Given the description of an element on the screen output the (x, y) to click on. 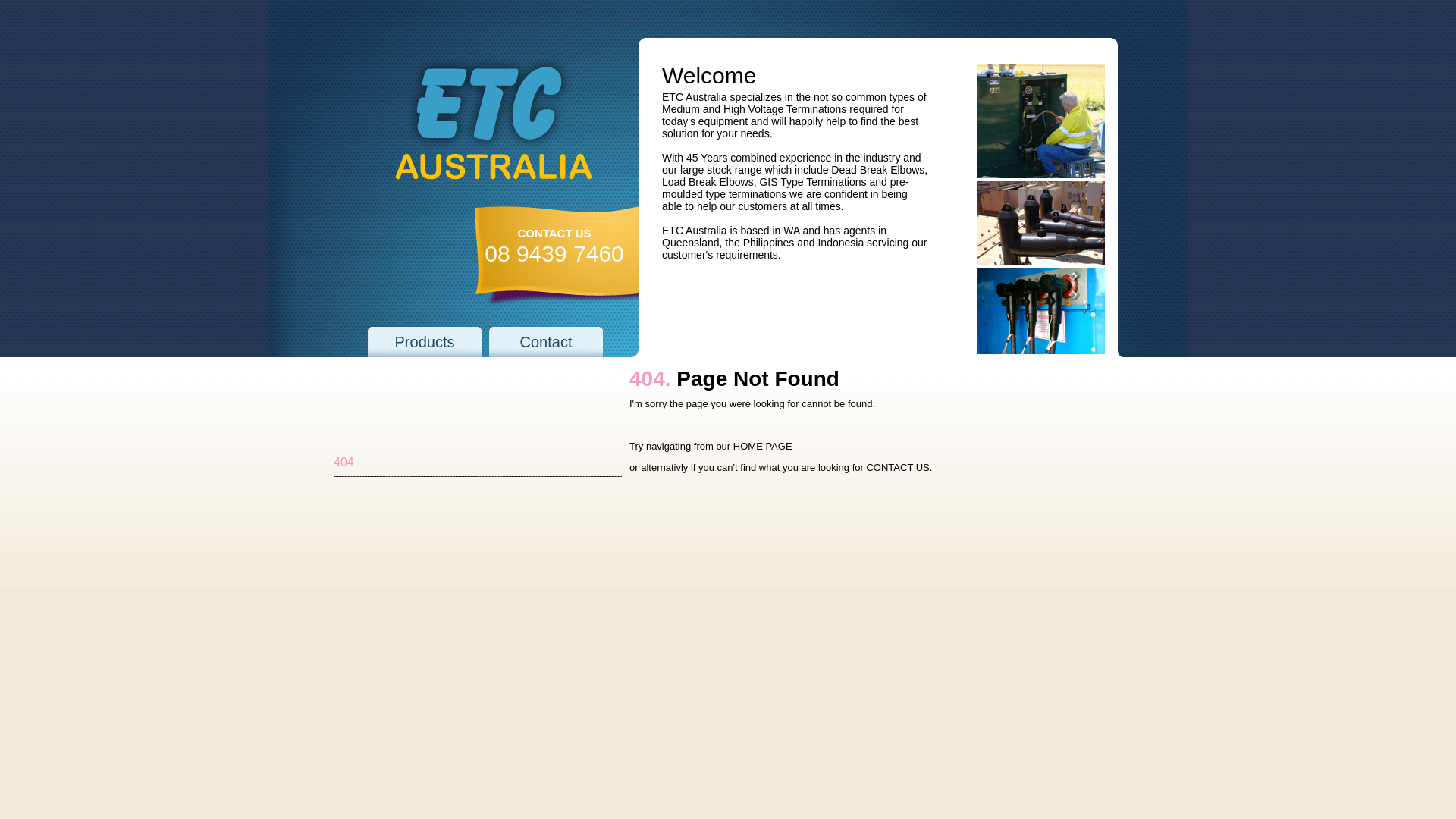
Contact Element type: text (545, 341)
HOME PAGE Element type: text (762, 445)
Products Element type: text (424, 341)
CONTACT US Element type: text (897, 467)
ETC Homepage Element type: hover (492, 124)
